Given the description of an element on the screen output the (x, y) to click on. 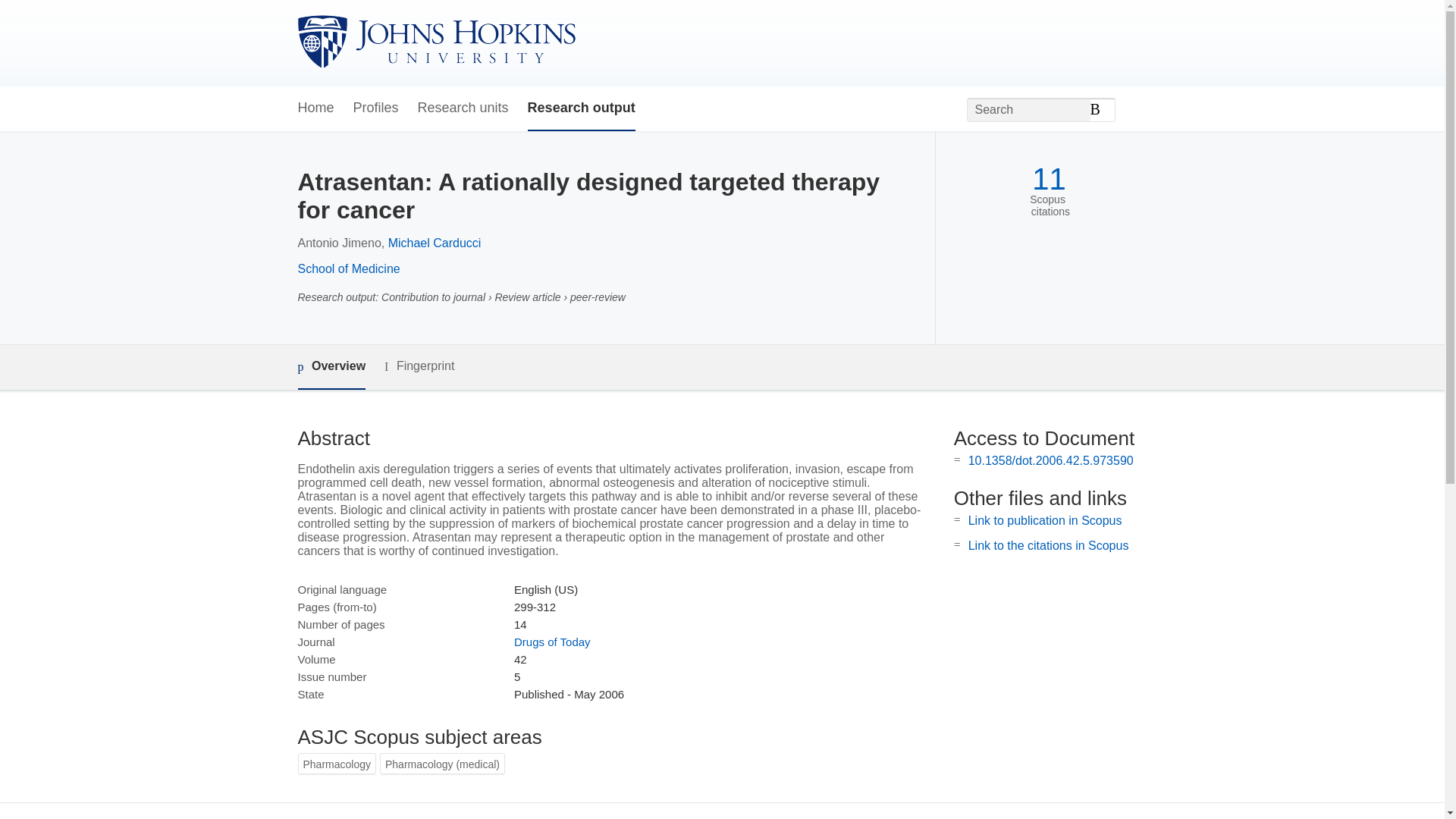
Research output (580, 108)
Profiles (375, 108)
School of Medicine (347, 268)
Link to publication in Scopus (1045, 520)
11 (1048, 179)
Michael Carducci (434, 242)
Overview (331, 366)
Drugs of Today (552, 641)
Johns Hopkins University Home (436, 43)
